Given the description of an element on the screen output the (x, y) to click on. 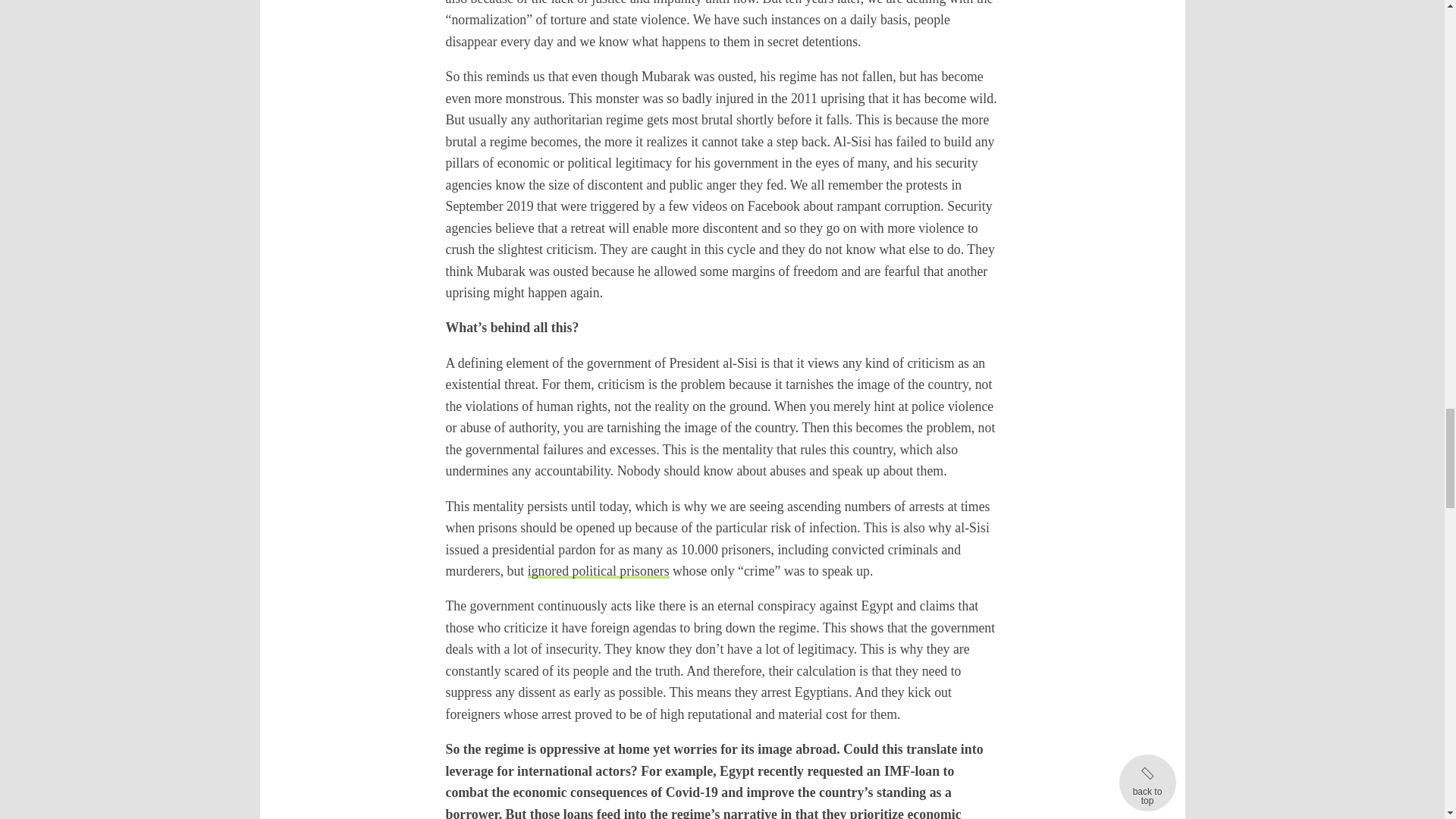
ignored political prisoners (598, 570)
